Given the description of an element on the screen output the (x, y) to click on. 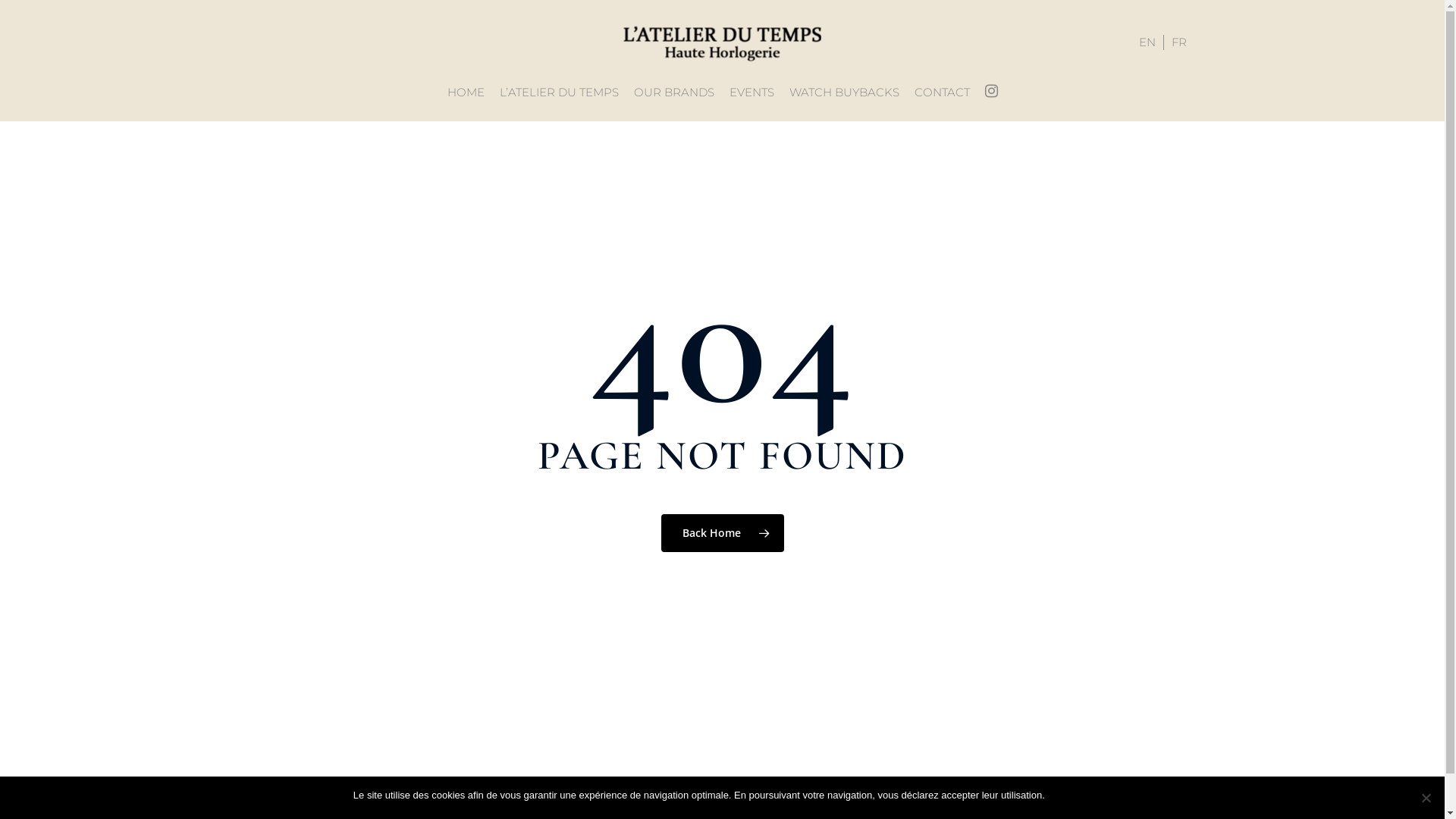
WATCH BUYBACKS Element type: text (843, 92)
OUR BRANDS Element type: text (673, 92)
Back Home Element type: text (722, 533)
No Element type: hover (1425, 797)
HOME Element type: text (465, 92)
Accepter Element type: text (1071, 795)
EVENTS Element type: text (751, 92)
English Element type: hover (1147, 42)
CONTACT Element type: text (941, 92)
